Given the description of an element on the screen output the (x, y) to click on. 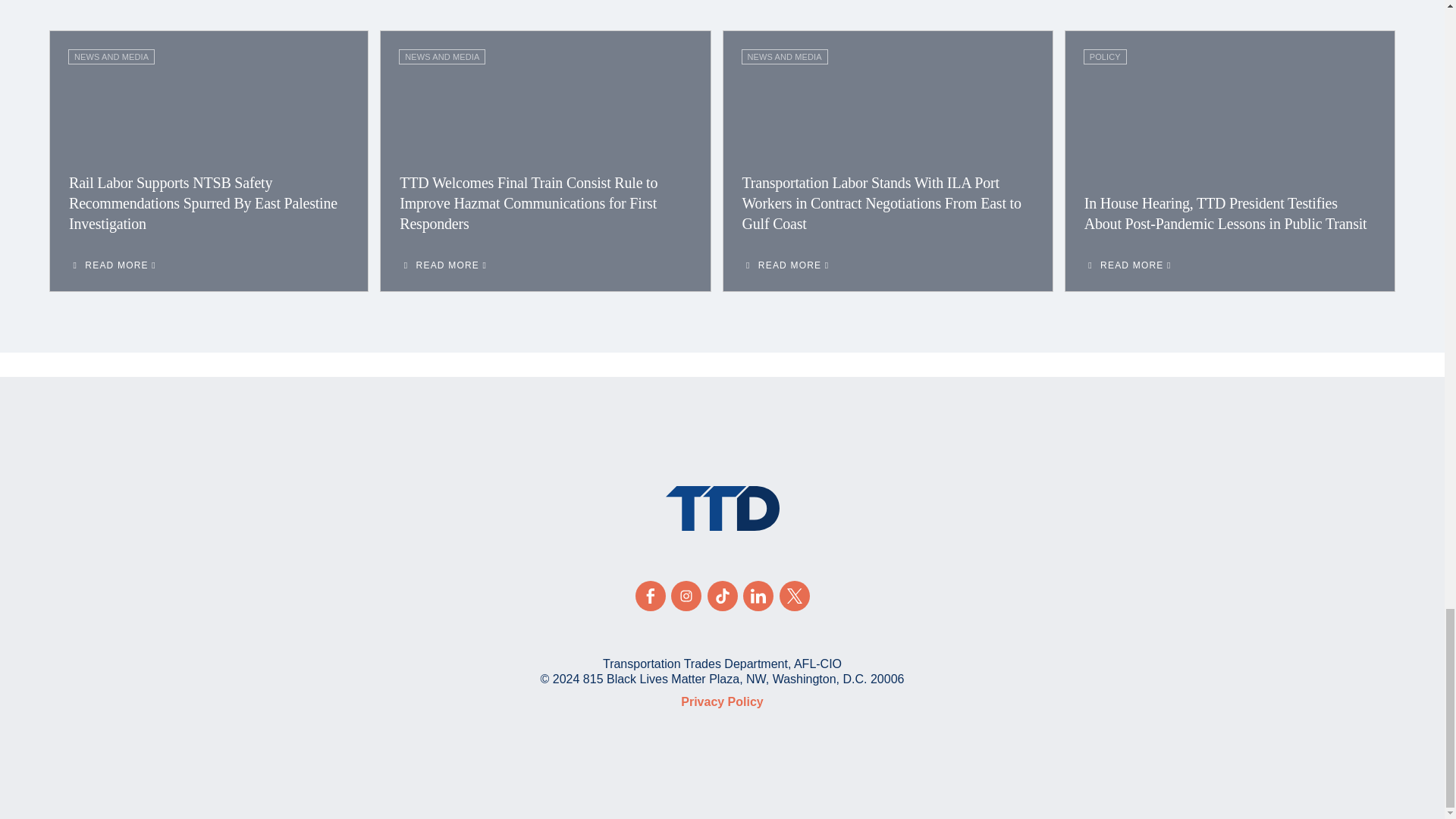
Transportation Trades Department, AFL-CIO Logo (721, 508)
NEWS AND MEDIA (111, 56)
NEWS AND MEDIA (441, 56)
